Given the description of an element on the screen output the (x, y) to click on. 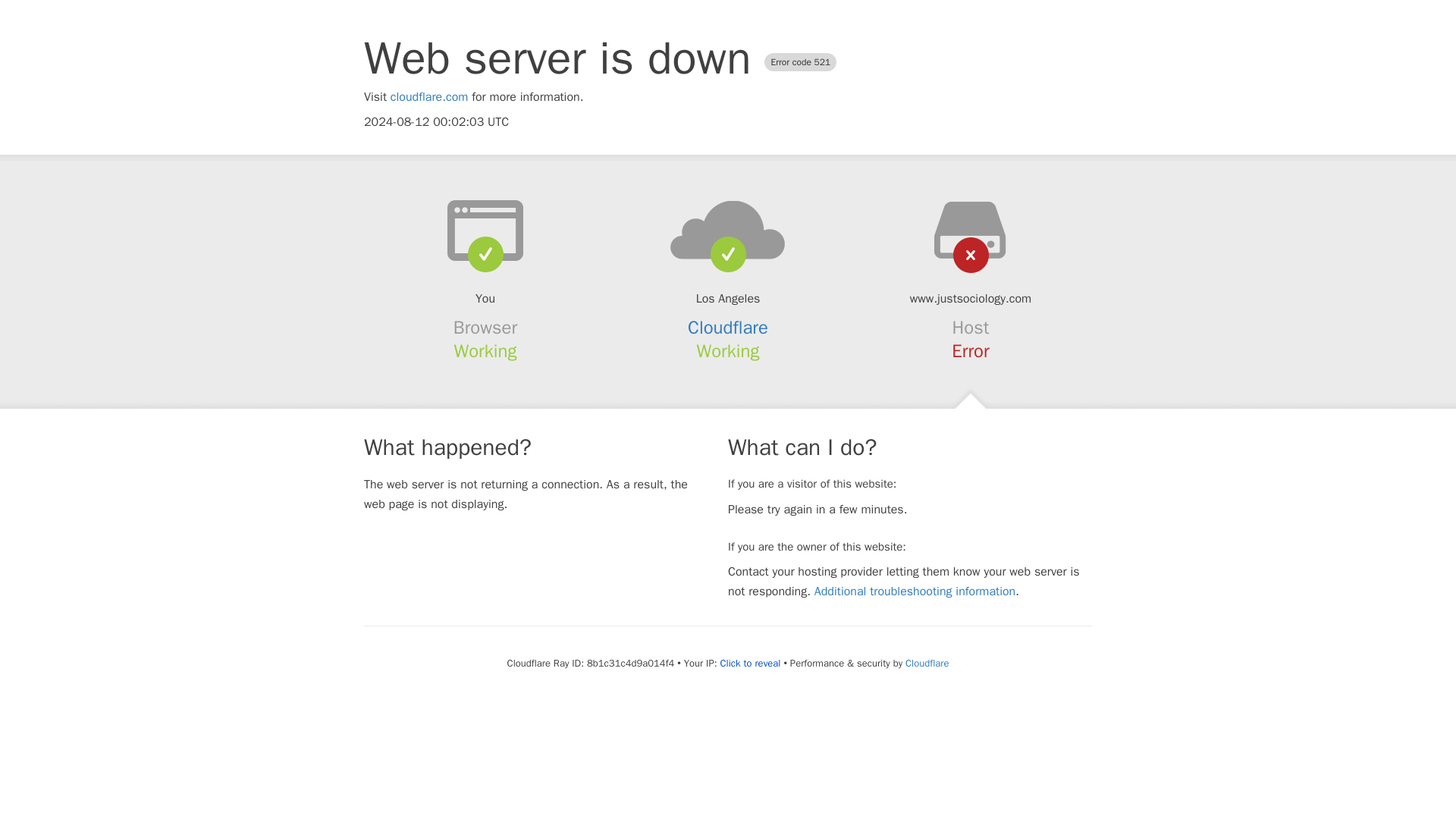
cloudflare.com (429, 96)
Click to reveal (750, 663)
Cloudflare (727, 327)
Cloudflare (927, 662)
Additional troubleshooting information (913, 590)
